Given the description of an element on the screen output the (x, y) to click on. 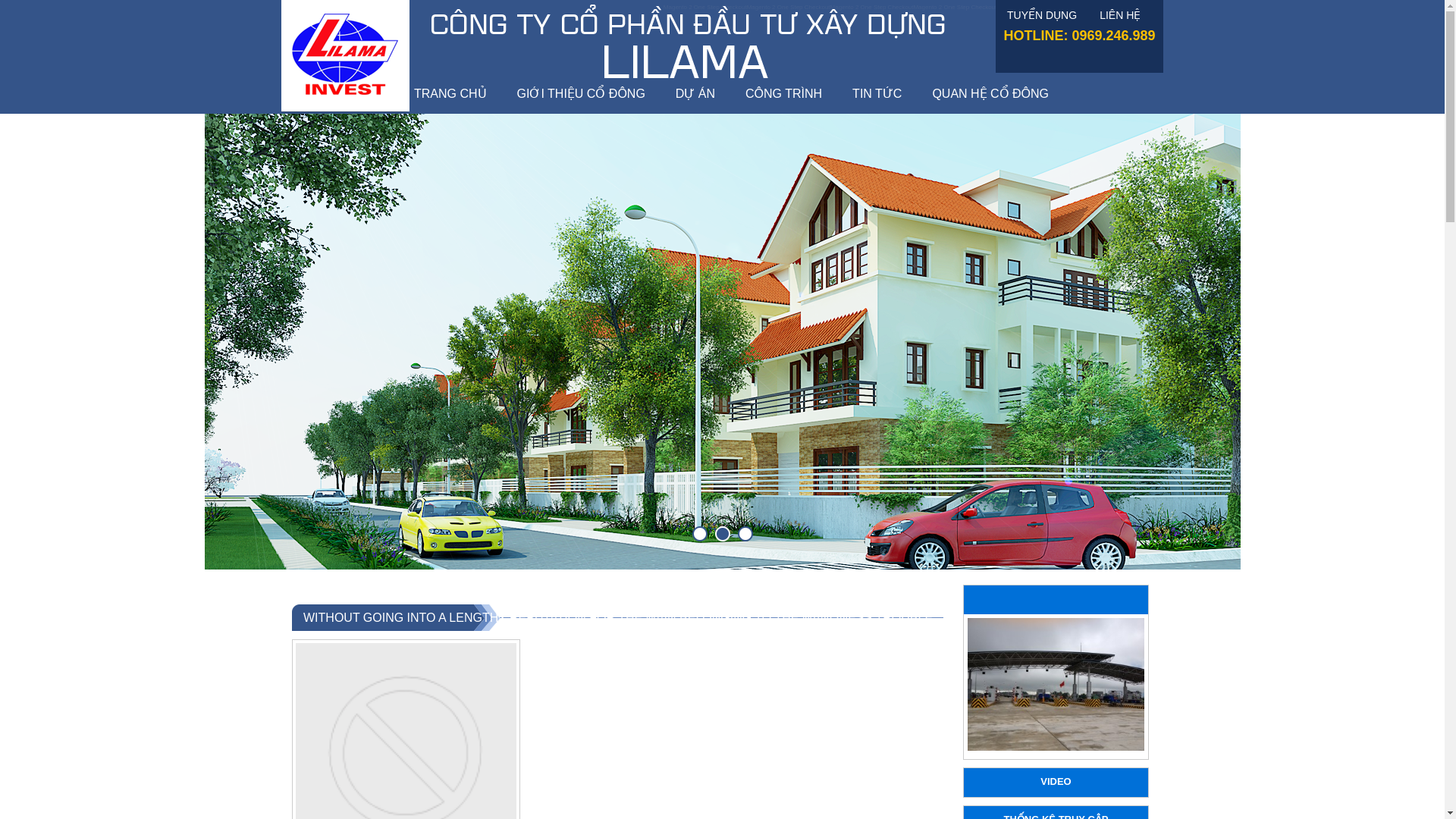
Magento 2 One Step Checkout (1037, 7)
Magento 2 One Step Checkout (787, 7)
Magento 2 One Step Checkout (1121, 7)
Magento 2 One Step Checkout (953, 7)
Magento 2 One Step Checkout (704, 7)
Magento 2 One Step Checkout (871, 7)
